Given the description of an element on the screen output the (x, y) to click on. 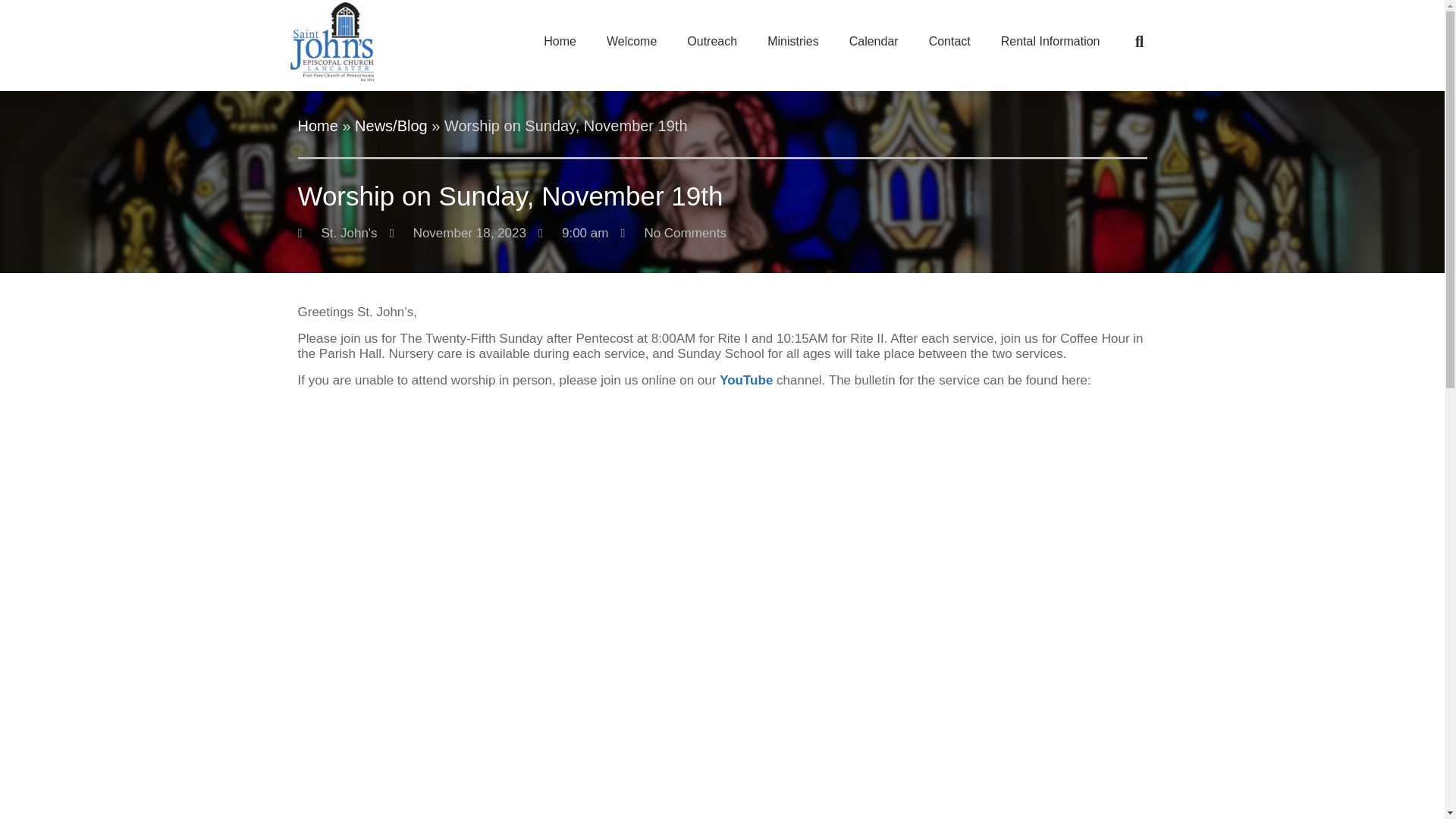
Calendar (874, 41)
Ministries (793, 41)
YouTube (746, 380)
Welcome (631, 41)
Home (317, 125)
Outreach (711, 41)
Rental Information (1050, 41)
Contact (949, 41)
